Given the description of an element on the screen output the (x, y) to click on. 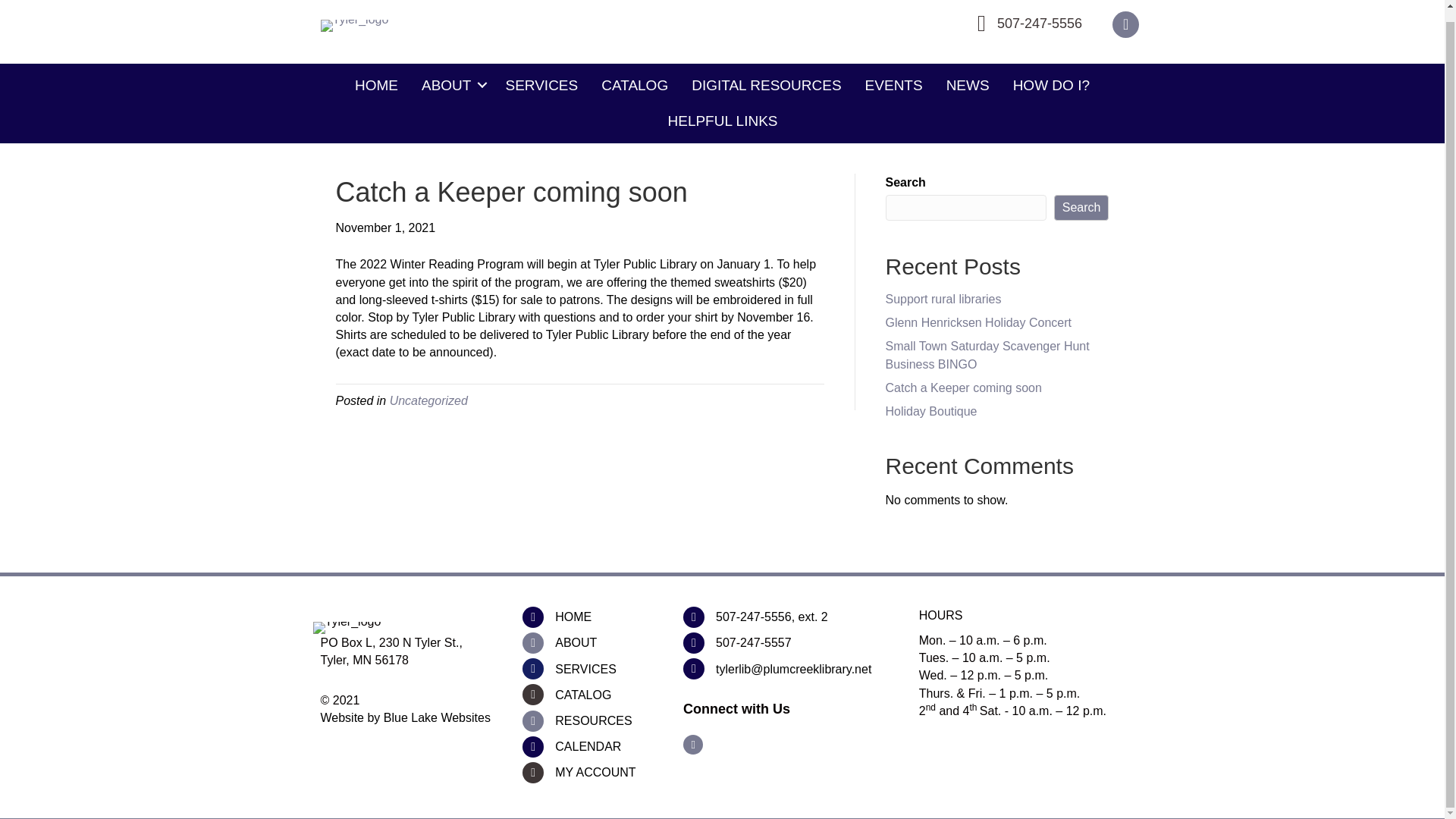
CATALOG (582, 694)
CALENDAR (587, 746)
HOME (572, 616)
HELPFUL LINKS (722, 121)
Glenn Henricksen Holiday Concert (978, 322)
HOW DO I? (1050, 85)
EVENTS (893, 85)
ABOUT (575, 642)
SERVICES (541, 85)
Holiday Boutique (930, 410)
DIGITAL RESOURCES (765, 85)
MY ACCOUNT (594, 772)
CATALOG (634, 85)
Catch a Keeper coming soon (963, 387)
RESOURCES (592, 720)
